Given the description of an element on the screen output the (x, y) to click on. 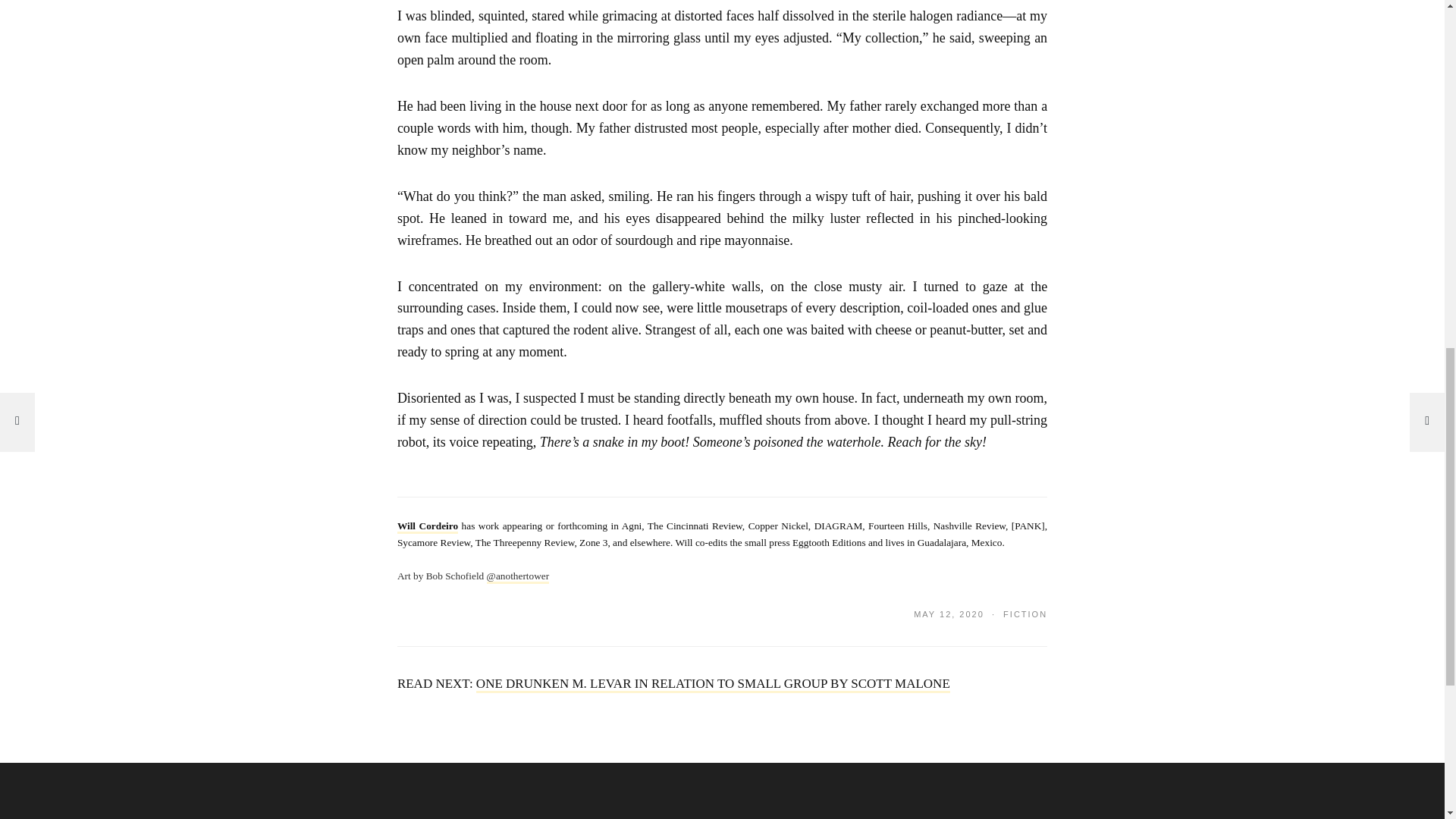
Will Cordeiro (427, 526)
